Given the description of an element on the screen output the (x, y) to click on. 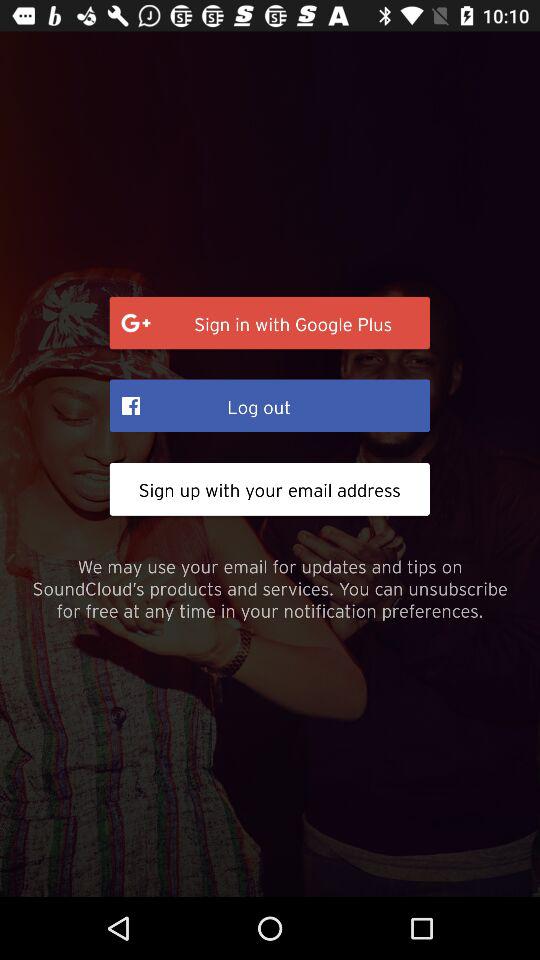
launch icon below sign in with item (269, 405)
